Given the description of an element on the screen output the (x, y) to click on. 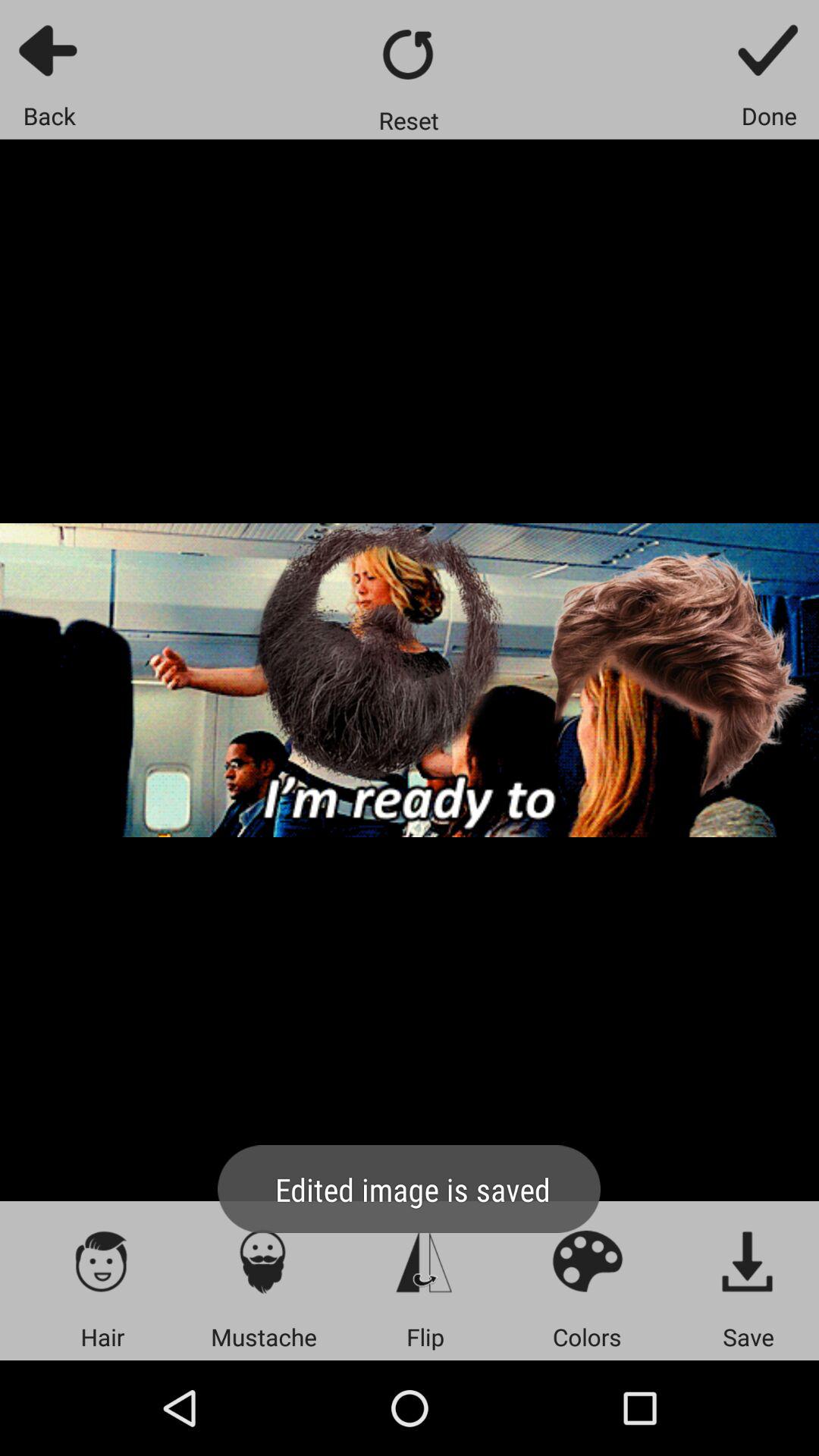
click to end (769, 49)
